Given the description of an element on the screen output the (x, y) to click on. 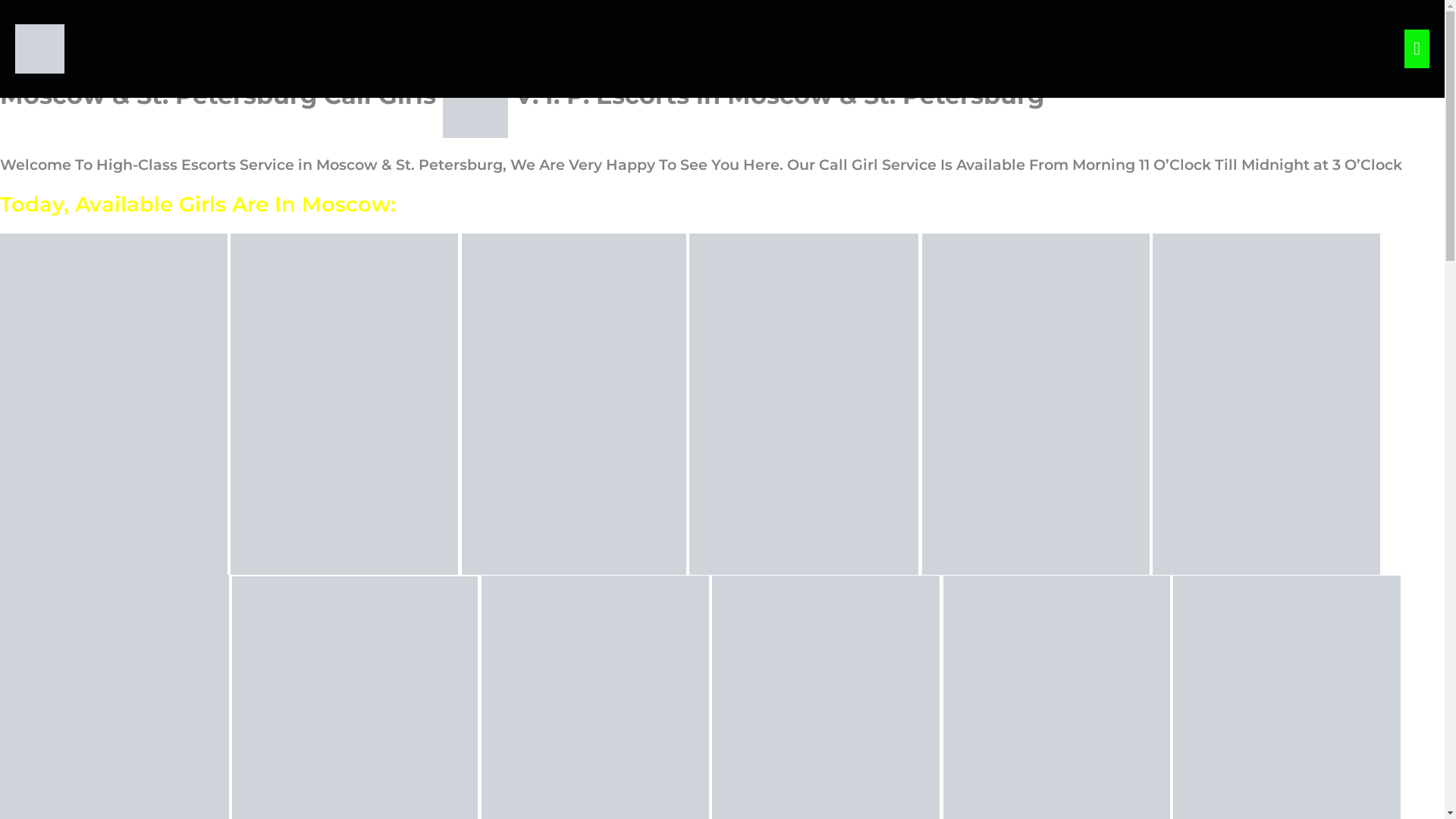
Main Menu (1417, 48)
